Given the description of an element on the screen output the (x, y) to click on. 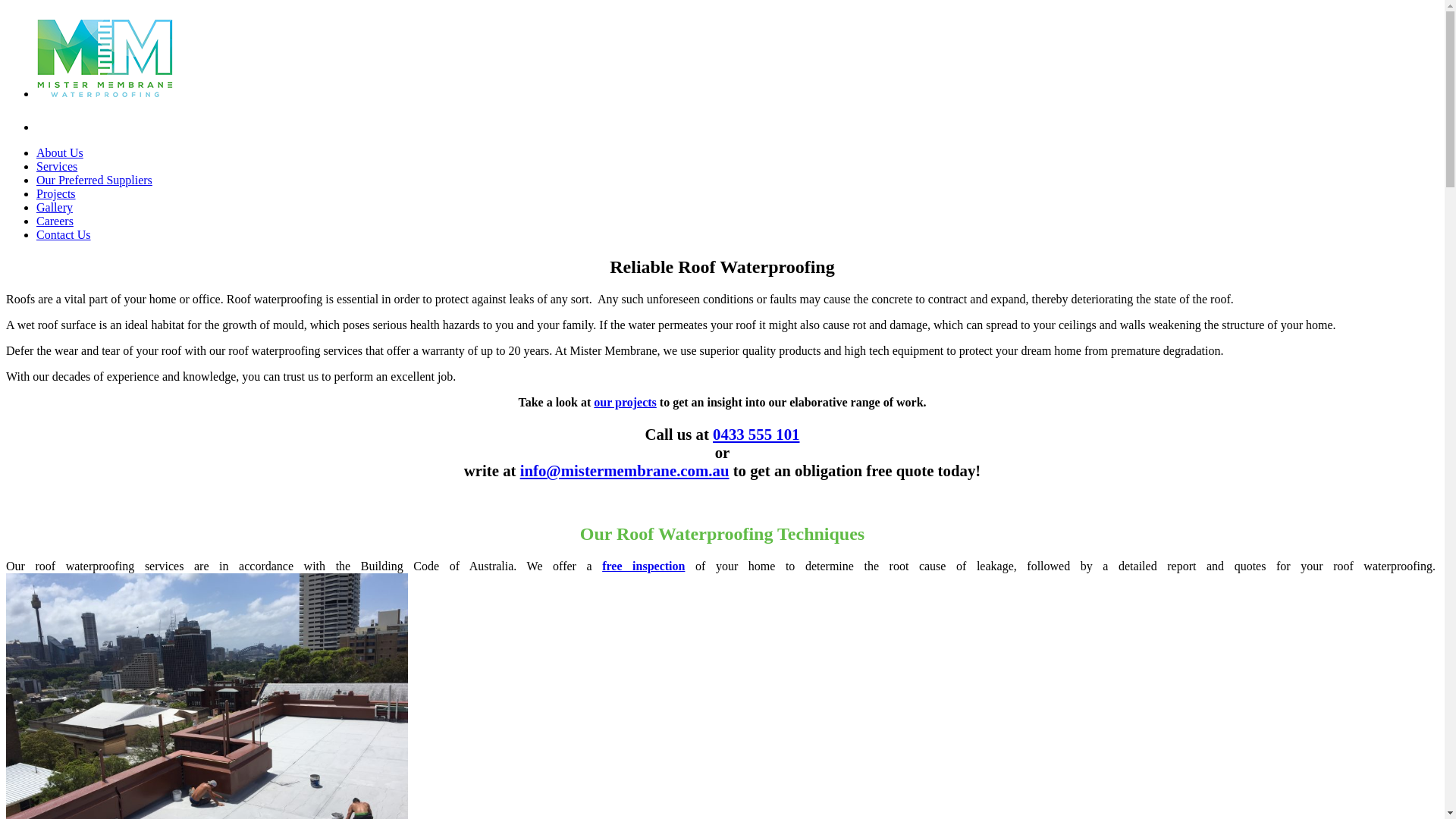
Contact Us Element type: text (63, 234)
free inspection Element type: text (643, 565)
Our Preferred Suppliers Element type: text (94, 179)
Careers Element type: text (54, 220)
0433 555 101 Element type: text (755, 433)
About Us Element type: text (59, 152)
Services Element type: text (56, 166)
info@mistermembrane.com.au Element type: text (624, 470)
Gallery Element type: text (54, 206)
our projects Element type: text (624, 401)
Projects Element type: text (55, 193)
